Given the description of an element on the screen output the (x, y) to click on. 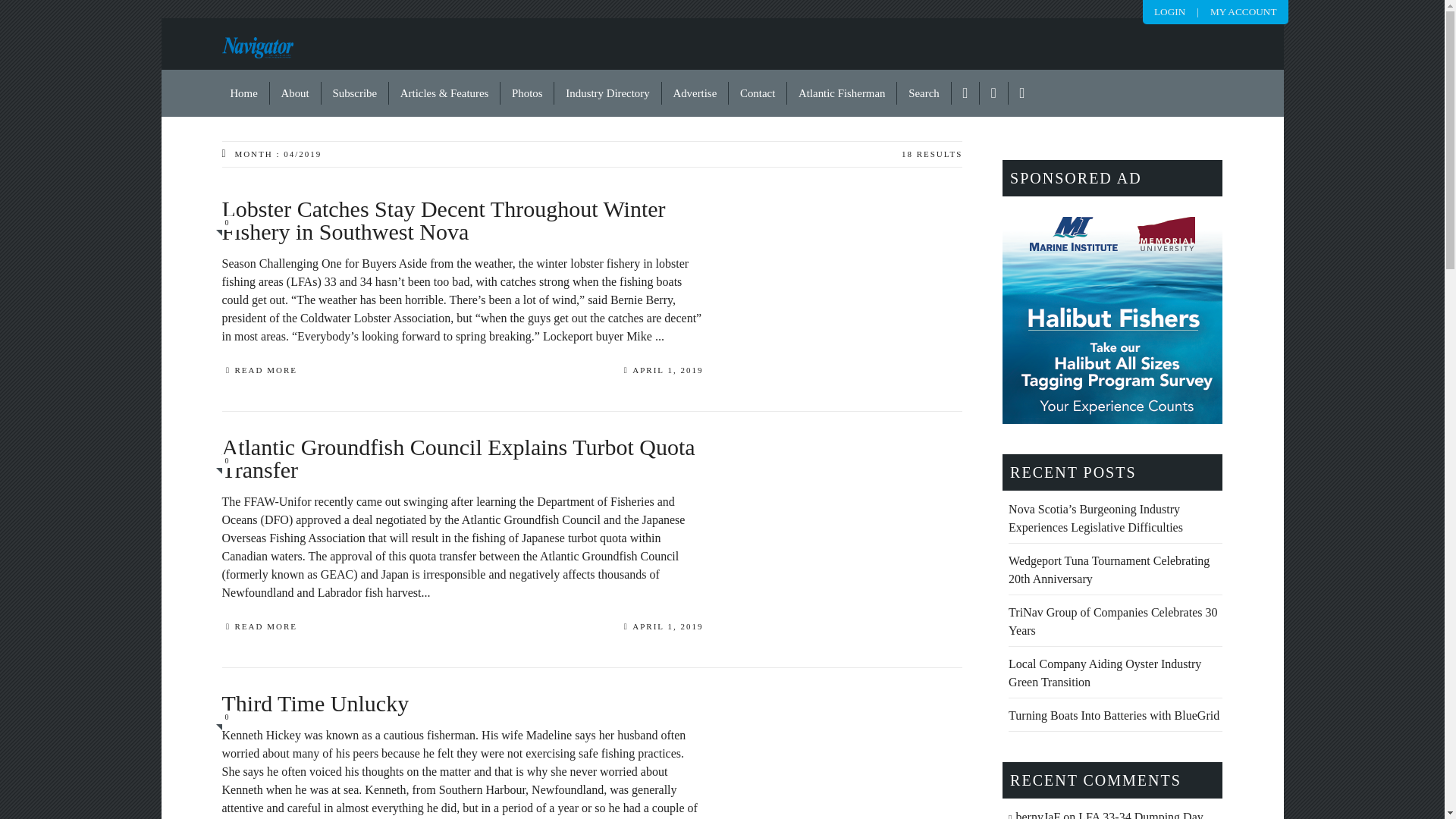
Third Time Unlucky (462, 717)
APRIL 1, 2019 (663, 372)
Home (243, 92)
Atlantic Groundfish Council Explains Turbot Quota Transfer (462, 471)
LOGIN (1169, 11)
Photos (527, 92)
Industry Directory (607, 92)
Atlantic Fisherman (841, 92)
READ MORE (259, 371)
About (295, 92)
Advertise (695, 92)
Search (923, 92)
Home (243, 92)
Search (923, 92)
